Given the description of an element on the screen output the (x, y) to click on. 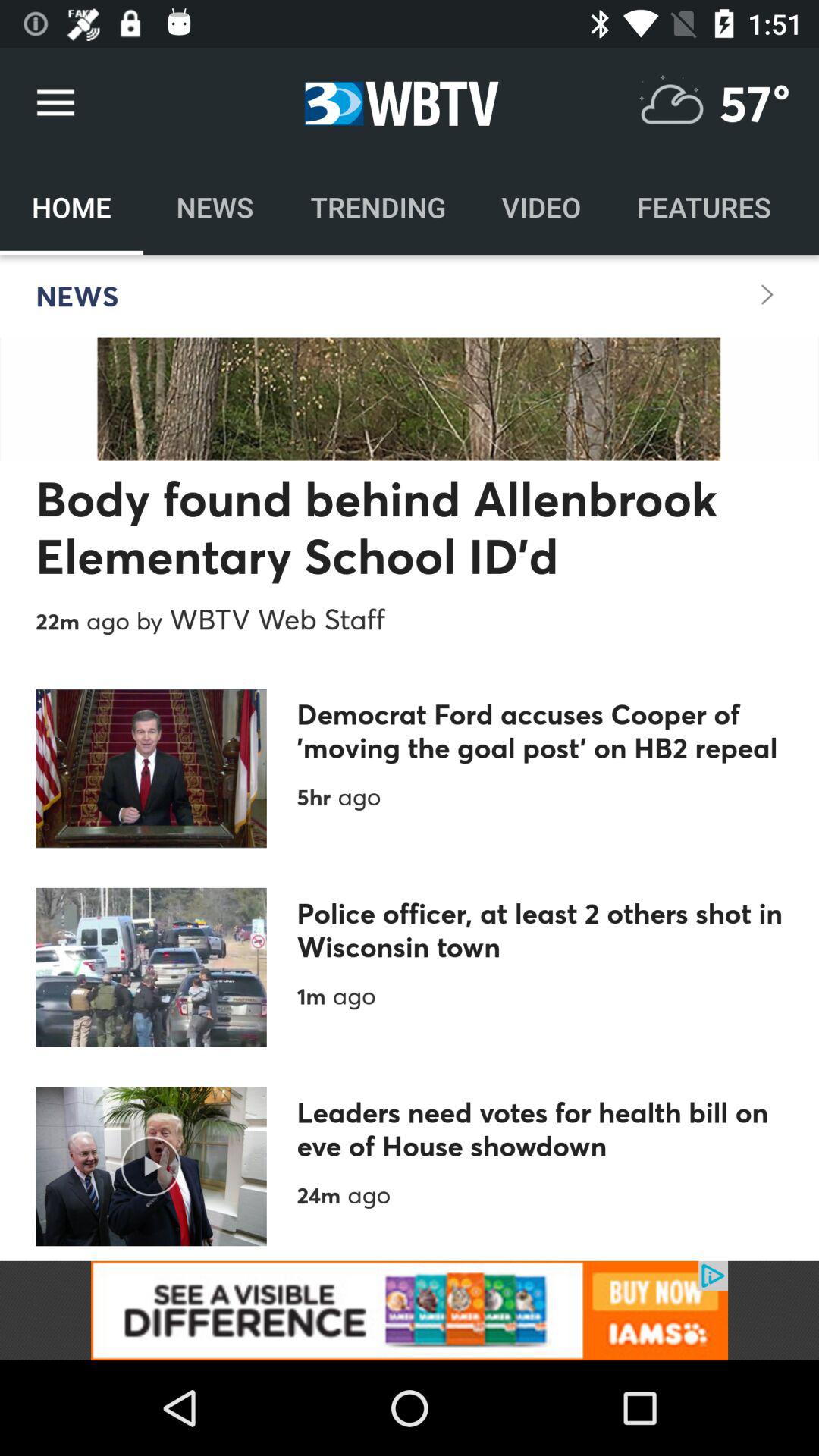
banner advertisement (409, 1310)
